Given the description of an element on the screen output the (x, y) to click on. 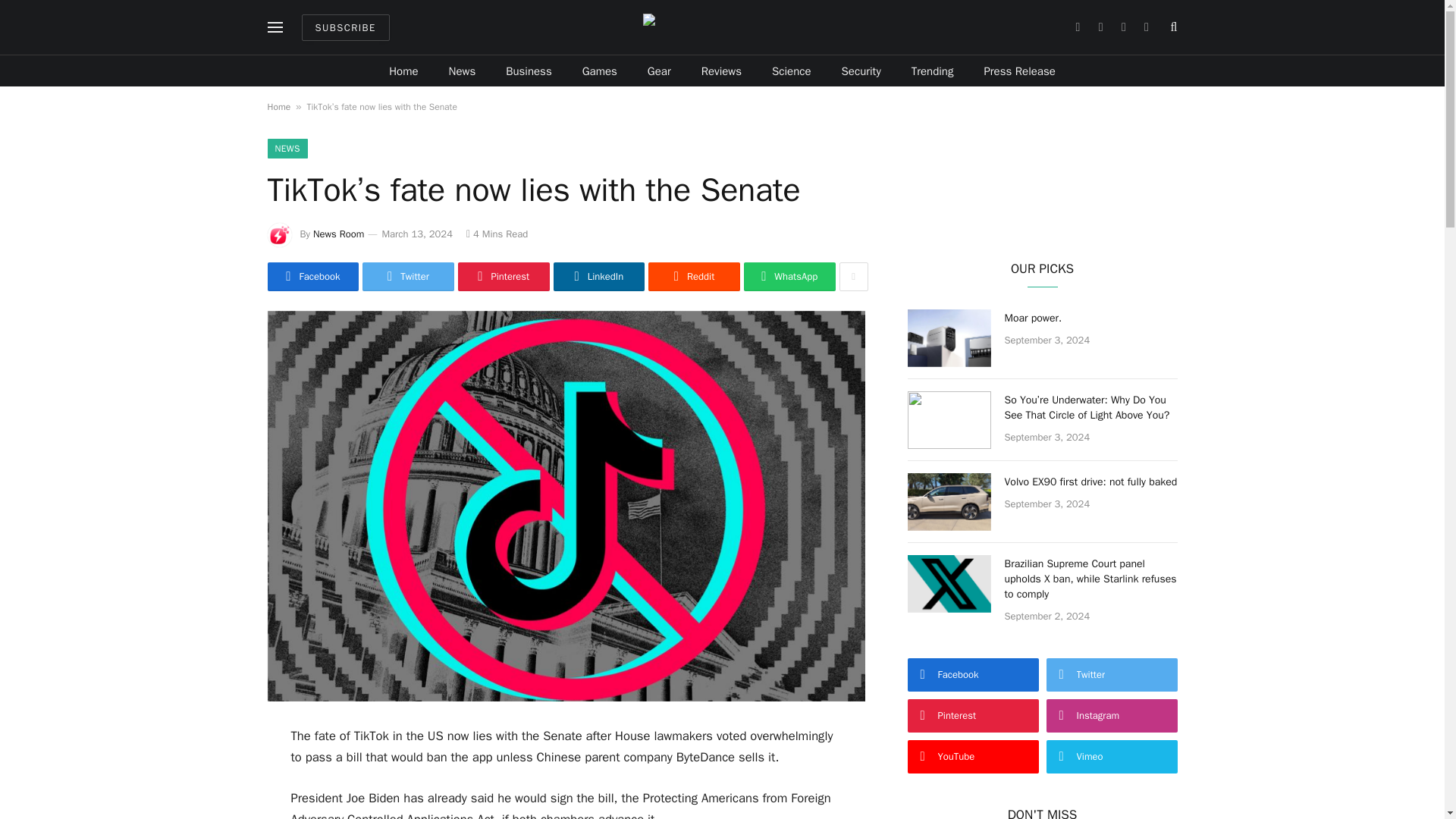
Business (528, 70)
Share on Pinterest (504, 276)
Home (277, 106)
LinkedIn (599, 276)
News (462, 70)
Reviews (721, 70)
Trending (932, 70)
News Room (339, 233)
Twitter (408, 276)
Science (792, 70)
